Given the description of an element on the screen output the (x, y) to click on. 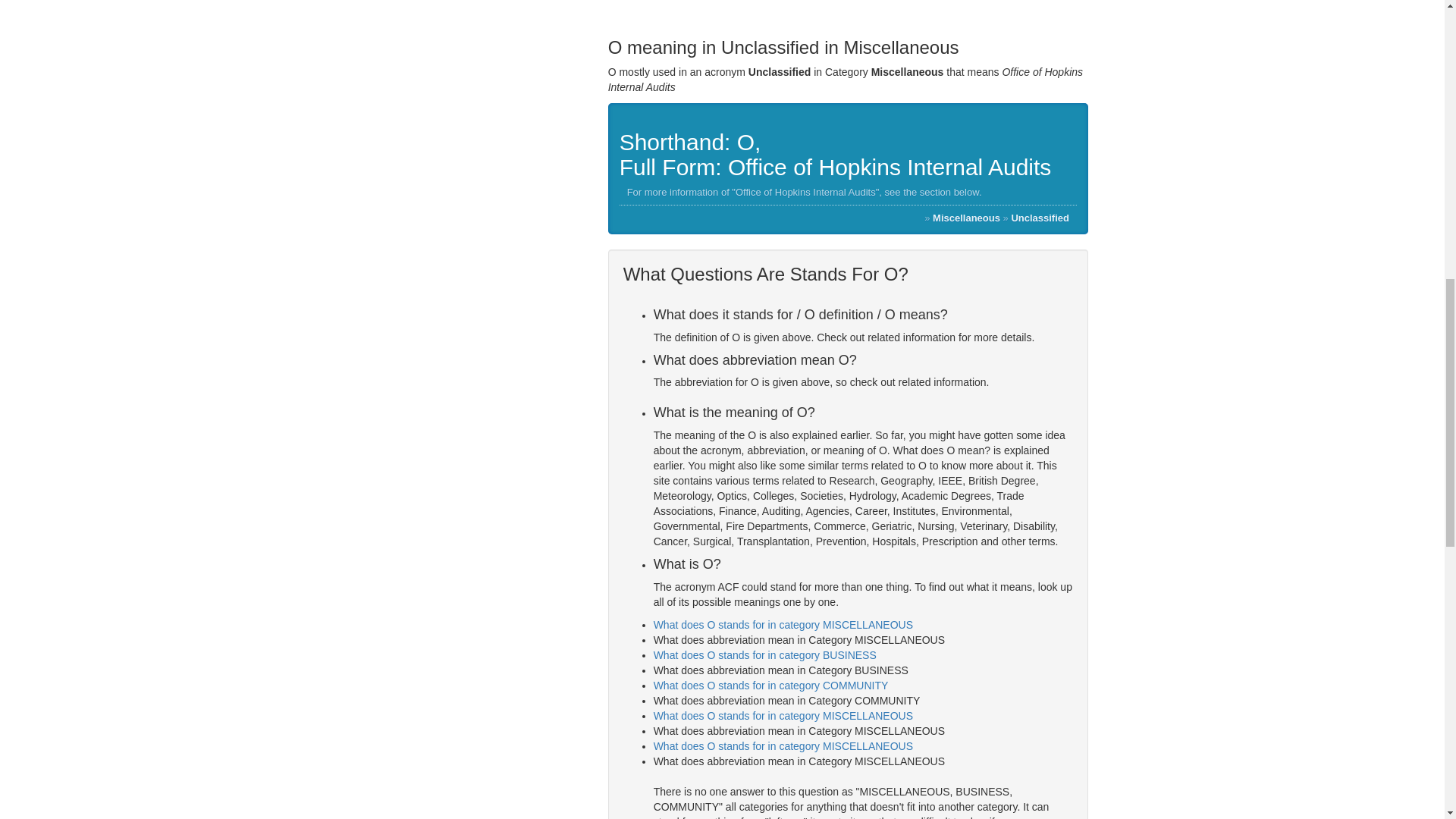
Advertisement (848, 11)
